Given the description of an element on the screen output the (x, y) to click on. 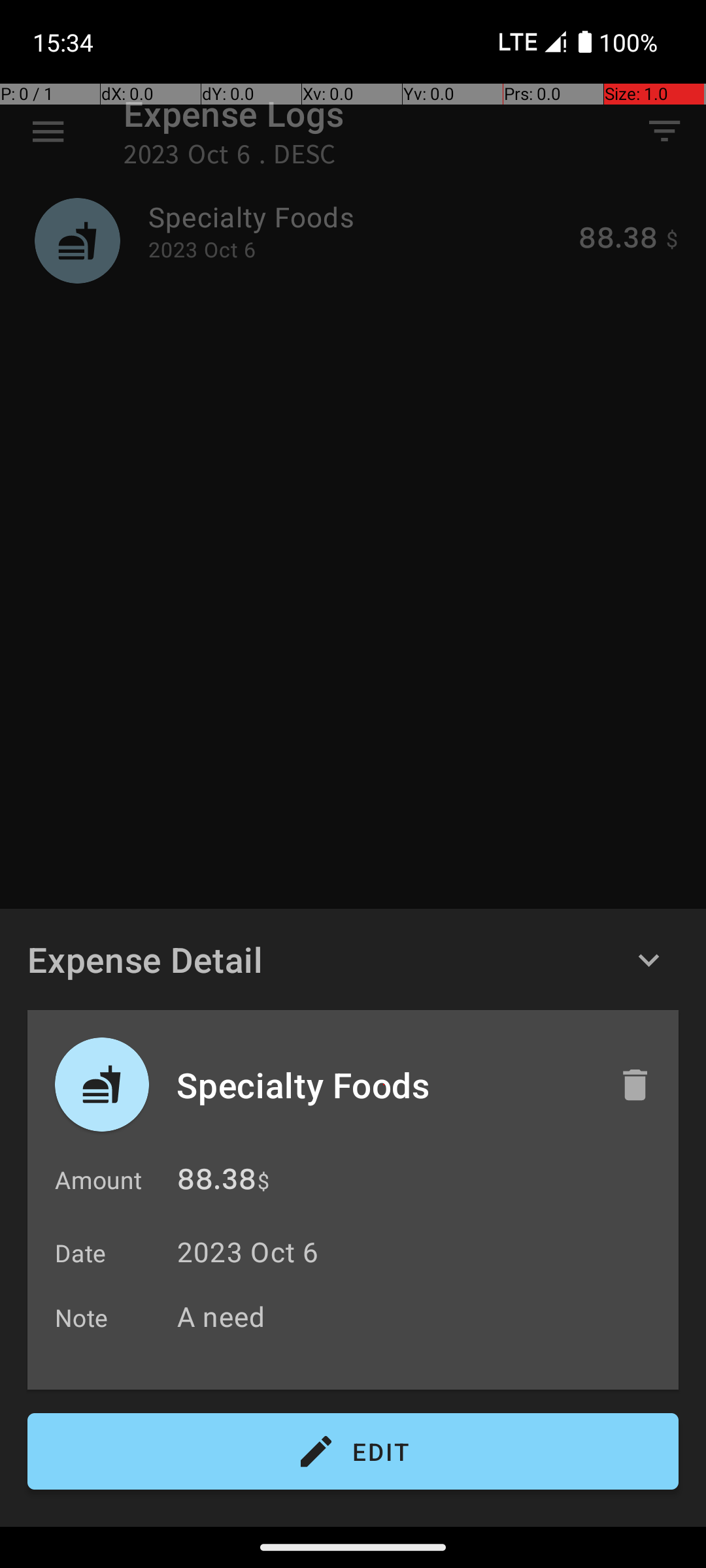
88.38 Element type: android.widget.TextView (216, 1182)
